Given the description of an element on the screen output the (x, y) to click on. 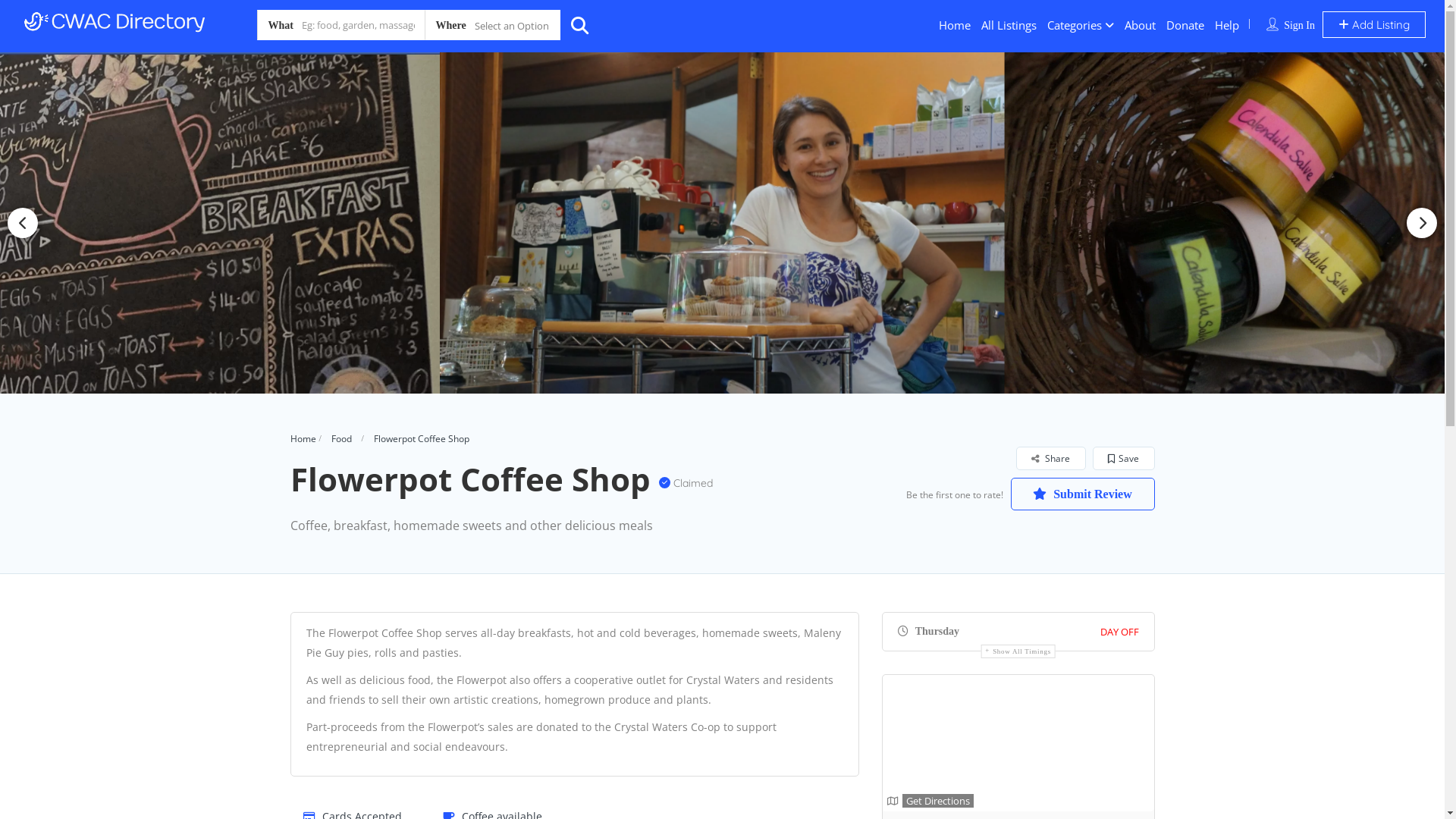
Sign In Element type: text (1298, 25)
All Listings Element type: text (1008, 24)
Help Element type: text (1226, 24)
Submit Review Element type: text (1082, 493)
Add Listing Element type: text (1373, 24)
Home Element type: text (302, 438)
Share Element type: text (1049, 458)
Home Element type: text (954, 24)
About Element type: text (1139, 24)
Select an Option Element type: text (492, 24)
DAY OFF Element type: text (1118, 631)
Next Element type: text (1421, 222)
Donate Element type: text (1185, 24)
Save Element type: text (1123, 458)
Categories Element type: text (1074, 24)
Show All Timings Element type: text (1017, 651)
Previous Element type: text (22, 222)
Submit Element type: text (414, 502)
Get Directions Element type: text (930, 800)
Food Element type: text (340, 438)
